Given the description of an element on the screen output the (x, y) to click on. 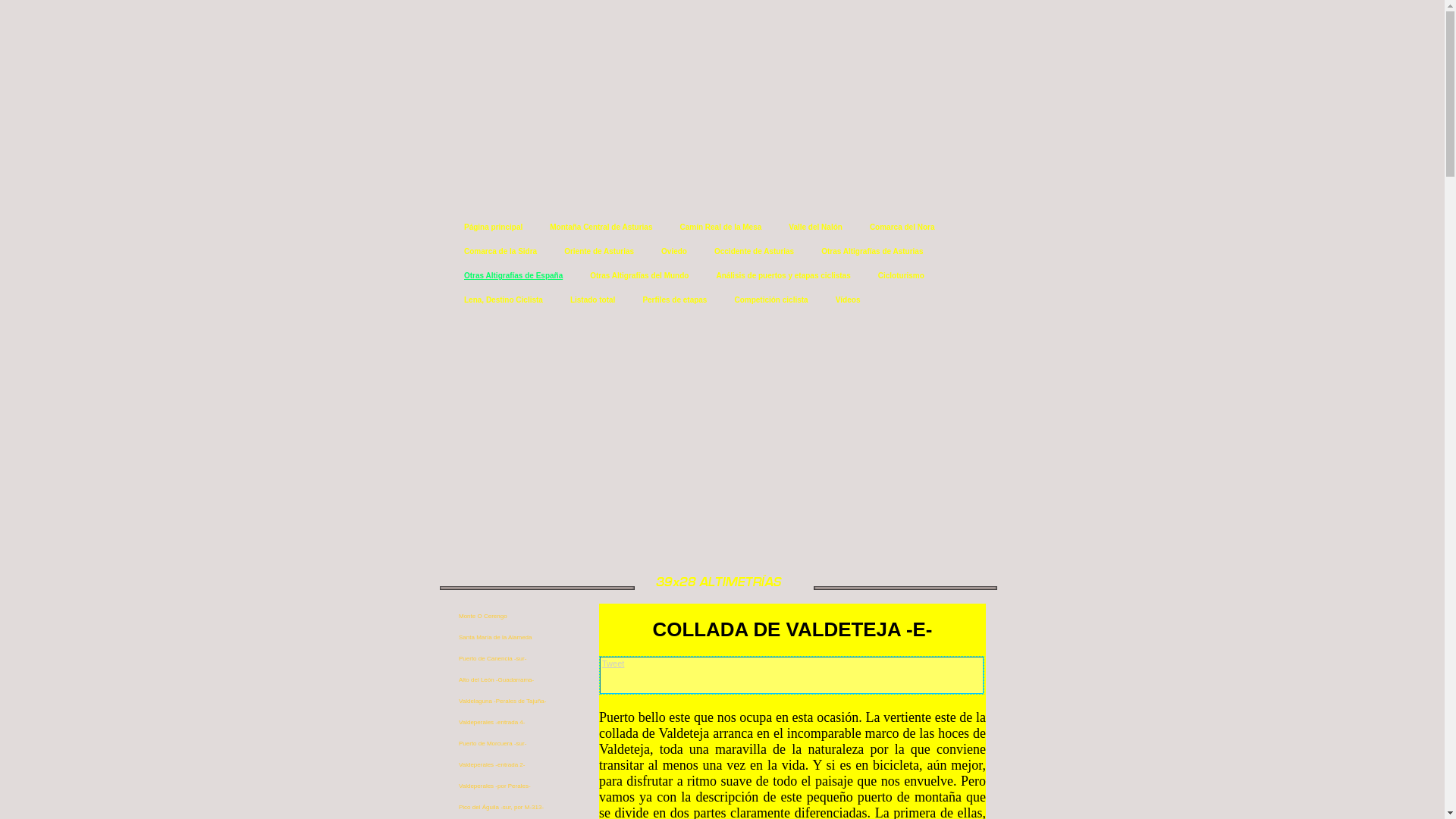
Puerto de Canencia -sur- Element type: text (512, 658)
Monte O Cerengo Element type: text (512, 616)
Tweet Element type: text (613, 663)
Cicloturismo Element type: text (901, 276)
Advertisement Element type: hover (723, 426)
Valdeperales -entrada 2- Element type: text (512, 765)
Comarca del Nora Element type: text (902, 228)
Listado total Element type: text (593, 301)
Perfiles de etapas Element type: text (675, 301)
Valdeperales -entrada 4- Element type: text (512, 722)
Comarca de la Sidra Element type: text (501, 252)
Puerto de Morcuera -sur- Element type: text (512, 743)
Occidente de Asturias Element type: text (754, 252)
Lena, Destino Ciclista Element type: text (504, 301)
Oriente de Asturias Element type: text (599, 252)
Oviedo Element type: text (674, 252)
Valdeperales -por Perales- Element type: text (512, 786)
